Given the description of an element on the screen output the (x, y) to click on. 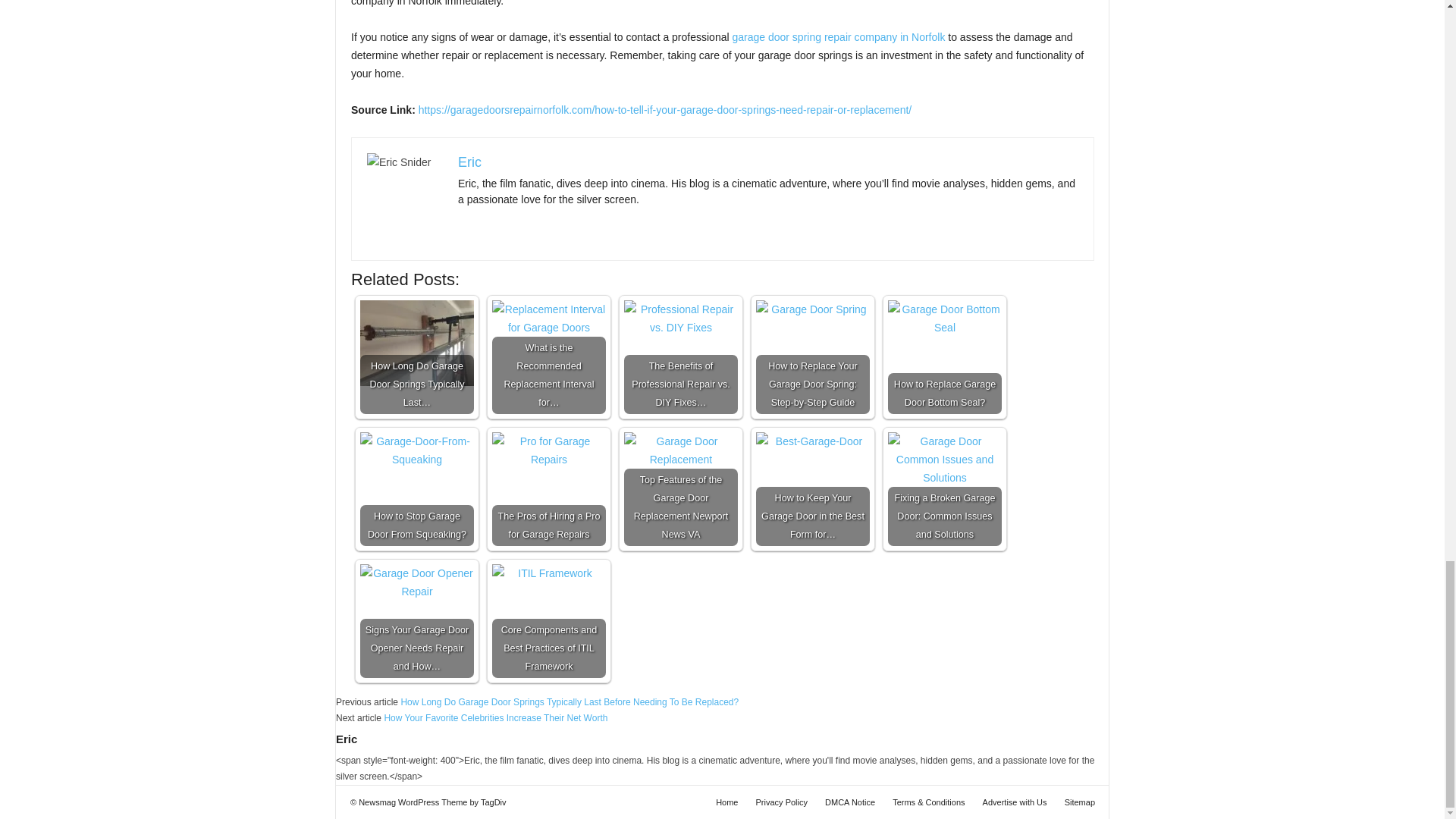
Core Components and Best Practices of ITIL Framework (548, 621)
How to Stop Garage Door From Squeaking? (416, 489)
garage door spring repair company in Norfolk (838, 37)
Fixing a Broken Garage Door: Common Issues and Solutions (944, 474)
The Pros of Hiring a Pro for Garage Repairs (548, 489)
Fixing a Broken Garage Door: Common Issues and Solutions (944, 489)
How to Replace Garage Door Bottom Seal? (944, 357)
The Pros of Hiring a Pro for Garage Repairs (548, 489)
How to Stop Garage Door From Squeaking? (416, 489)
